Given the description of an element on the screen output the (x, y) to click on. 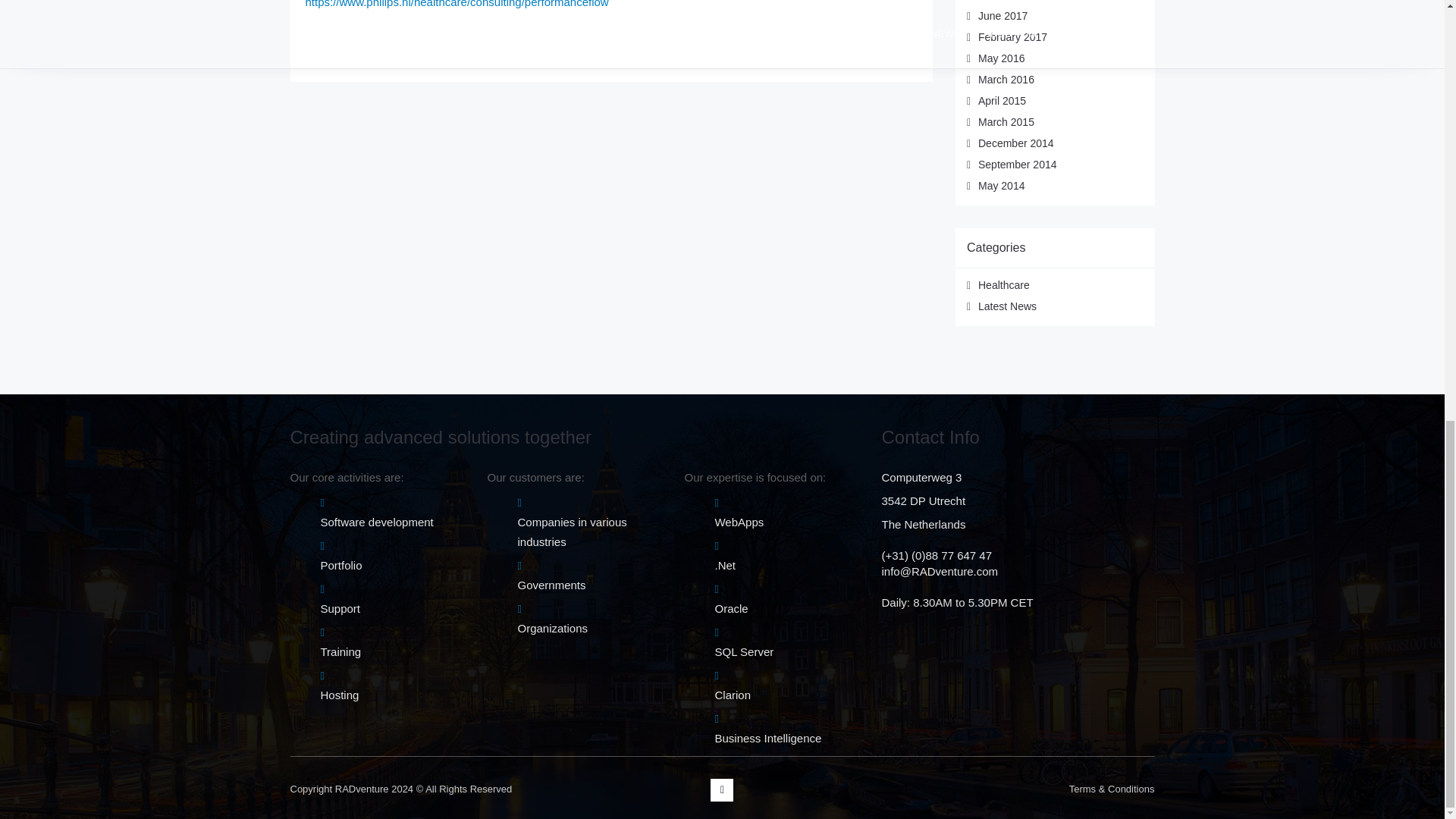
June 2017 (1002, 15)
March 2015 (1005, 121)
October 2017 (1010, 0)
February 2017 (1012, 37)
May 2016 (1001, 58)
April 2015 (1002, 101)
March 2016 (1005, 79)
